Given the description of an element on the screen output the (x, y) to click on. 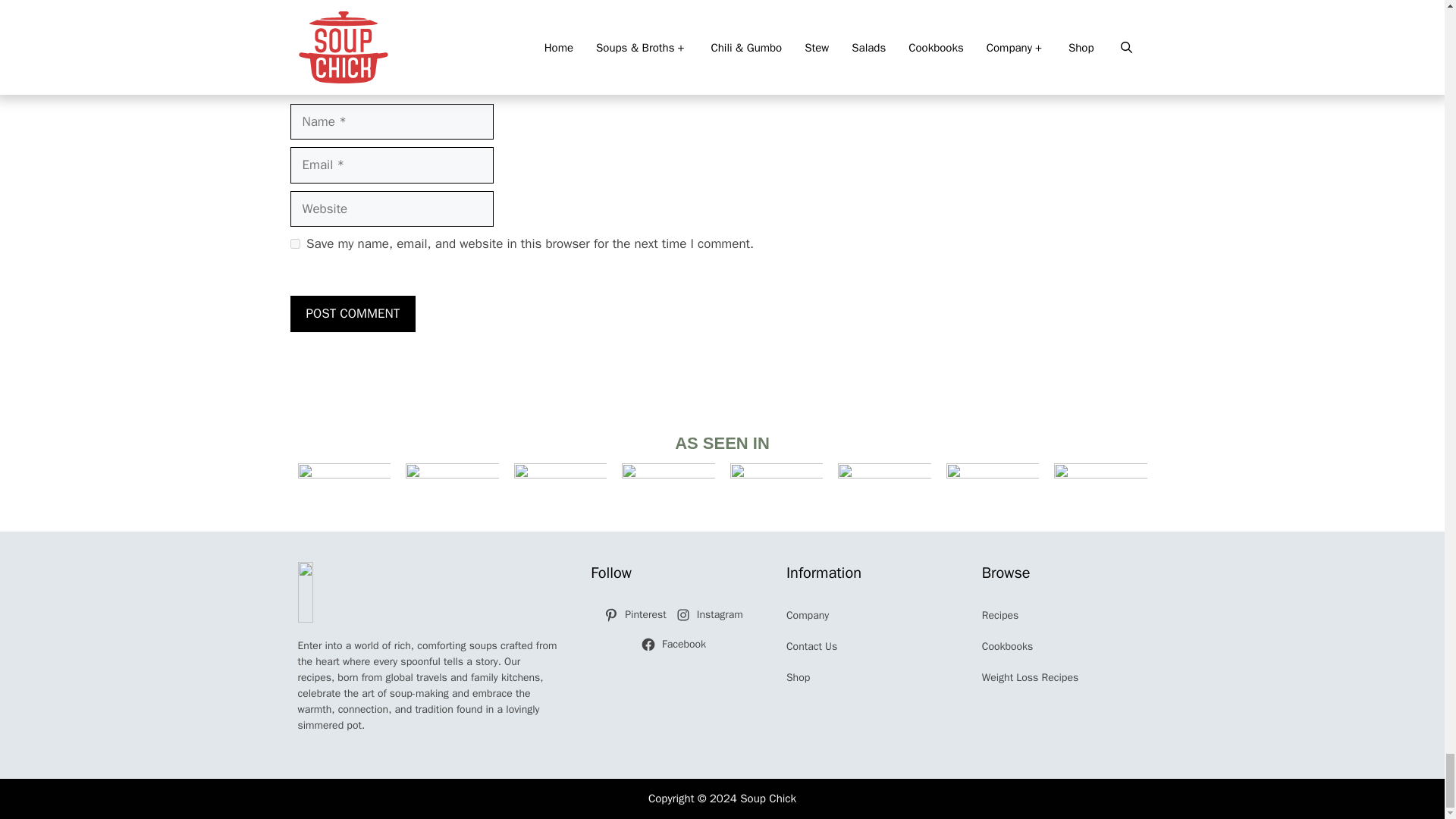
Post Comment (351, 313)
yes (294, 243)
